Given the description of an element on the screen output the (x, y) to click on. 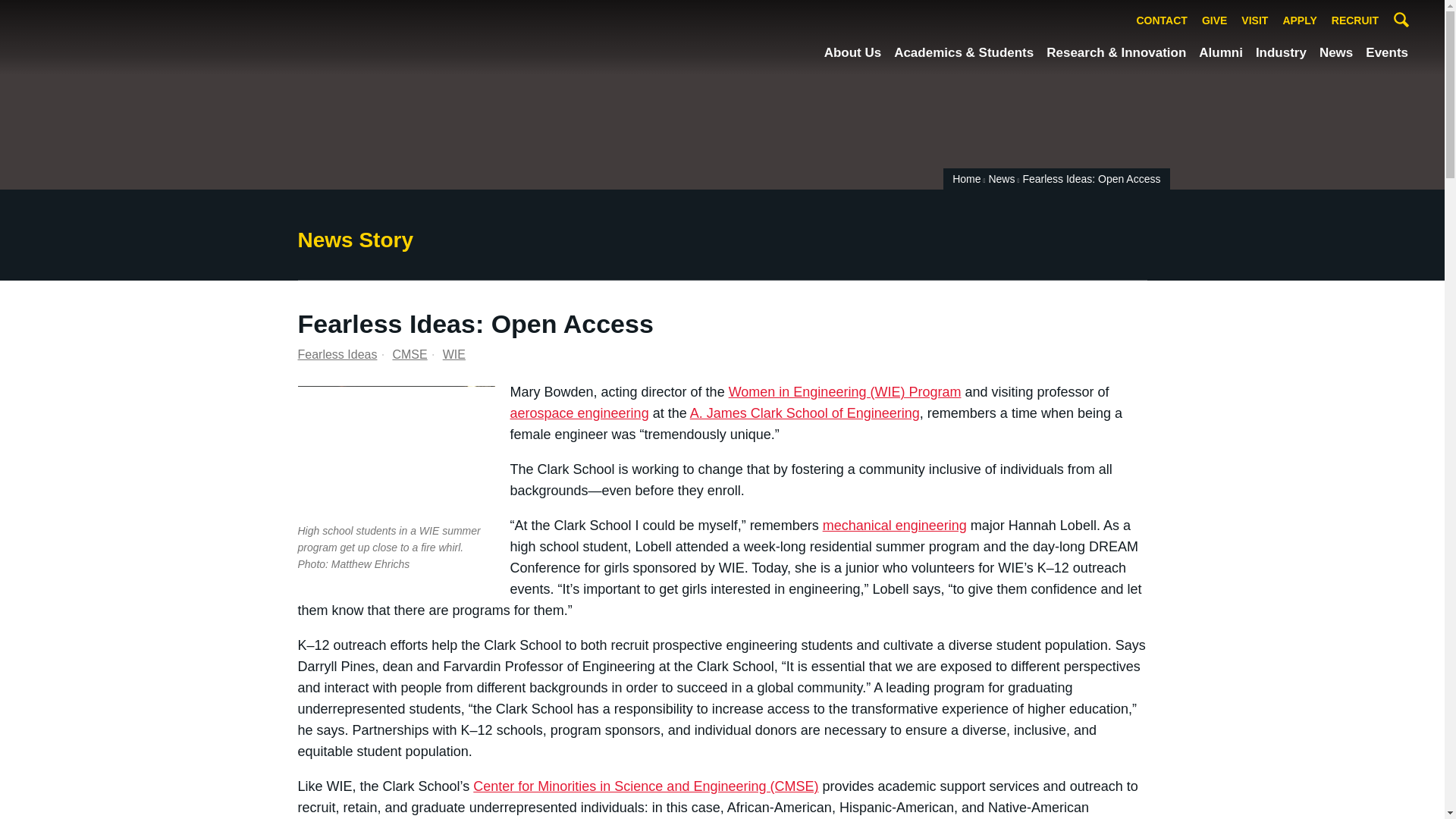
About Us (852, 53)
RECRUIT (1355, 21)
CONTACT (1161, 21)
A. James Clark School of Engineering (128, 36)
APPLY (1299, 21)
VISIT (1254, 21)
GIVE (1213, 21)
